Given the description of an element on the screen output the (x, y) to click on. 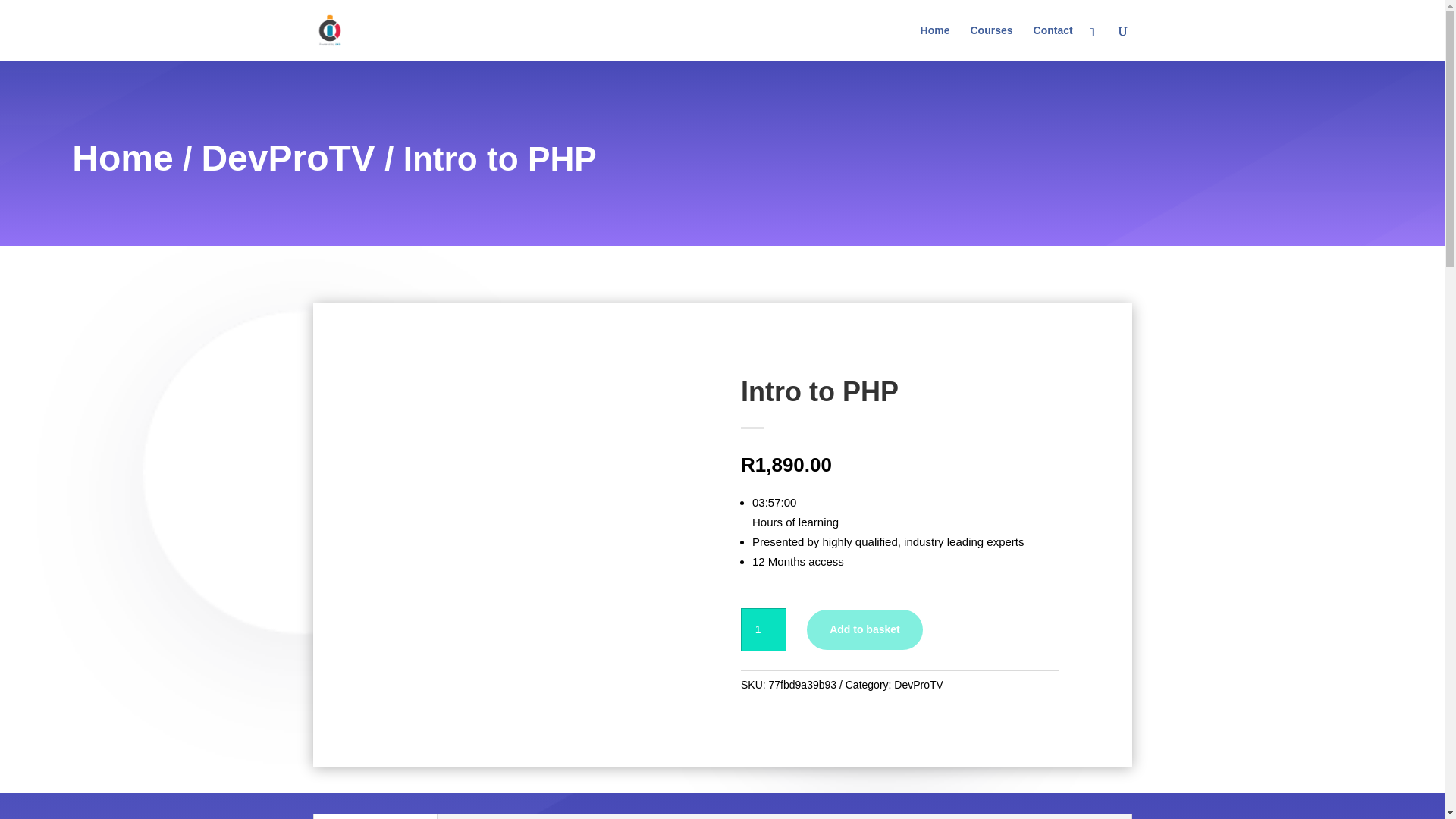
DESCRIPTION (376, 816)
DevProTV (918, 684)
1 (763, 629)
Home (122, 158)
DevProTV (287, 158)
Courses (990, 42)
Add to basket (864, 629)
Contact (1053, 42)
